Given the description of an element on the screen output the (x, y) to click on. 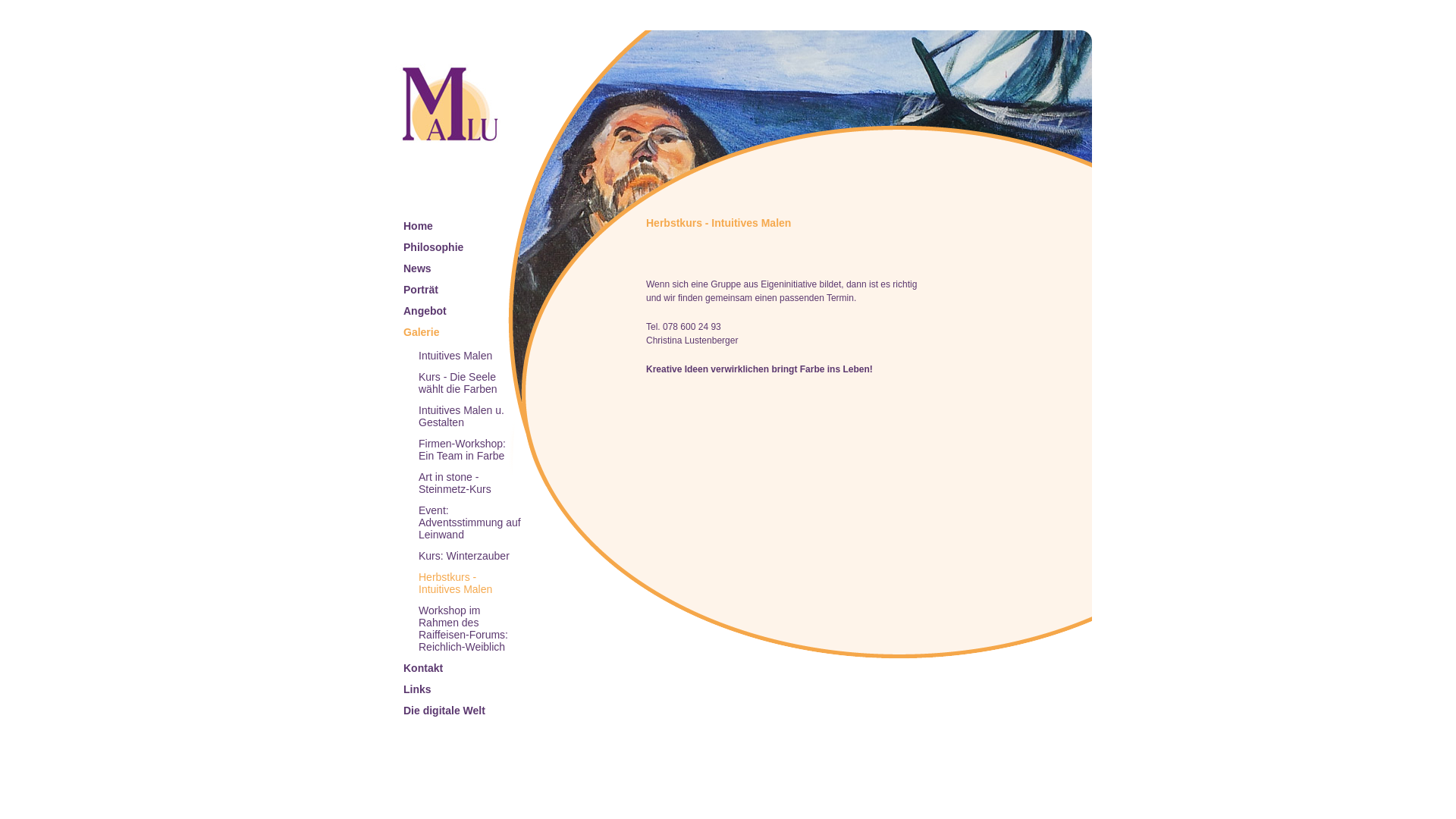
Art in stone - Steinmetz-Kurs Element type: text (454, 482)
Workshop im Rahmen des Raiffeisen-Forums: Reichlich-Weiblich Element type: text (463, 628)
zur Startseite Element type: hover (449, 106)
News Element type: text (417, 268)
Galerie Element type: text (421, 332)
Angebot Element type: text (424, 310)
Kurs: Winterzauber Element type: text (463, 555)
Event: Adventsstimmung auf Leinwand Element type: text (469, 522)
Links Element type: text (417, 689)
Intuitives Malen u. Gestalten Element type: text (461, 416)
Kontakt Element type: text (422, 668)
Intuitives Malen Element type: text (455, 355)
Die digitale Welt Element type: text (444, 710)
Herbstkurs - Intuitives Malen Element type: text (455, 583)
Home Element type: text (418, 225)
Firmen-Workshop: Ein Team in Farbe Element type: text (461, 449)
Philosophie Element type: text (433, 247)
